Given the description of an element on the screen output the (x, y) to click on. 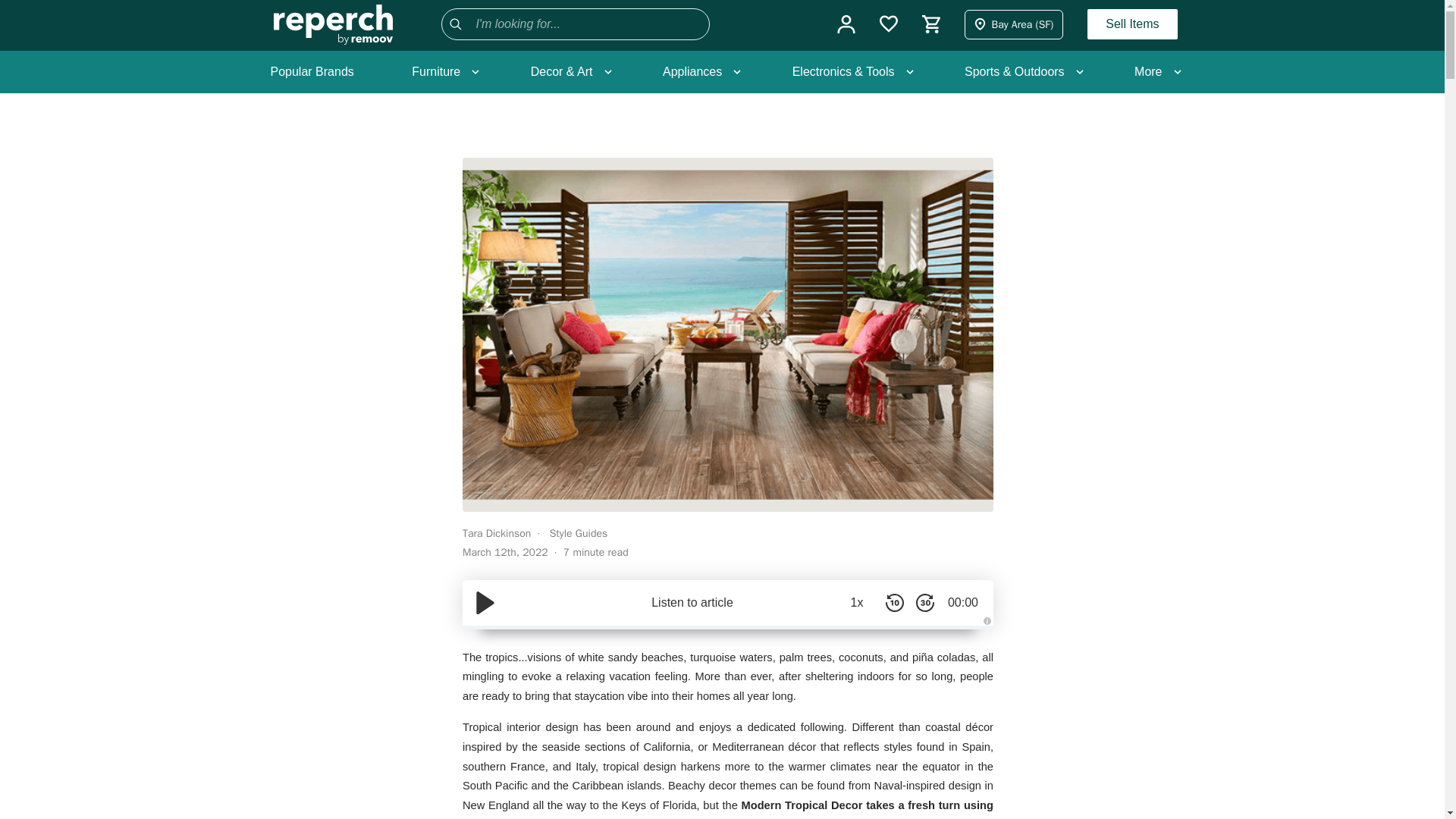
Dressers (496, 305)
Popular Brands (311, 71)
Furniture (442, 71)
Sell Items (1131, 24)
Bookshelves (505, 305)
